Given the description of an element on the screen output the (x, y) to click on. 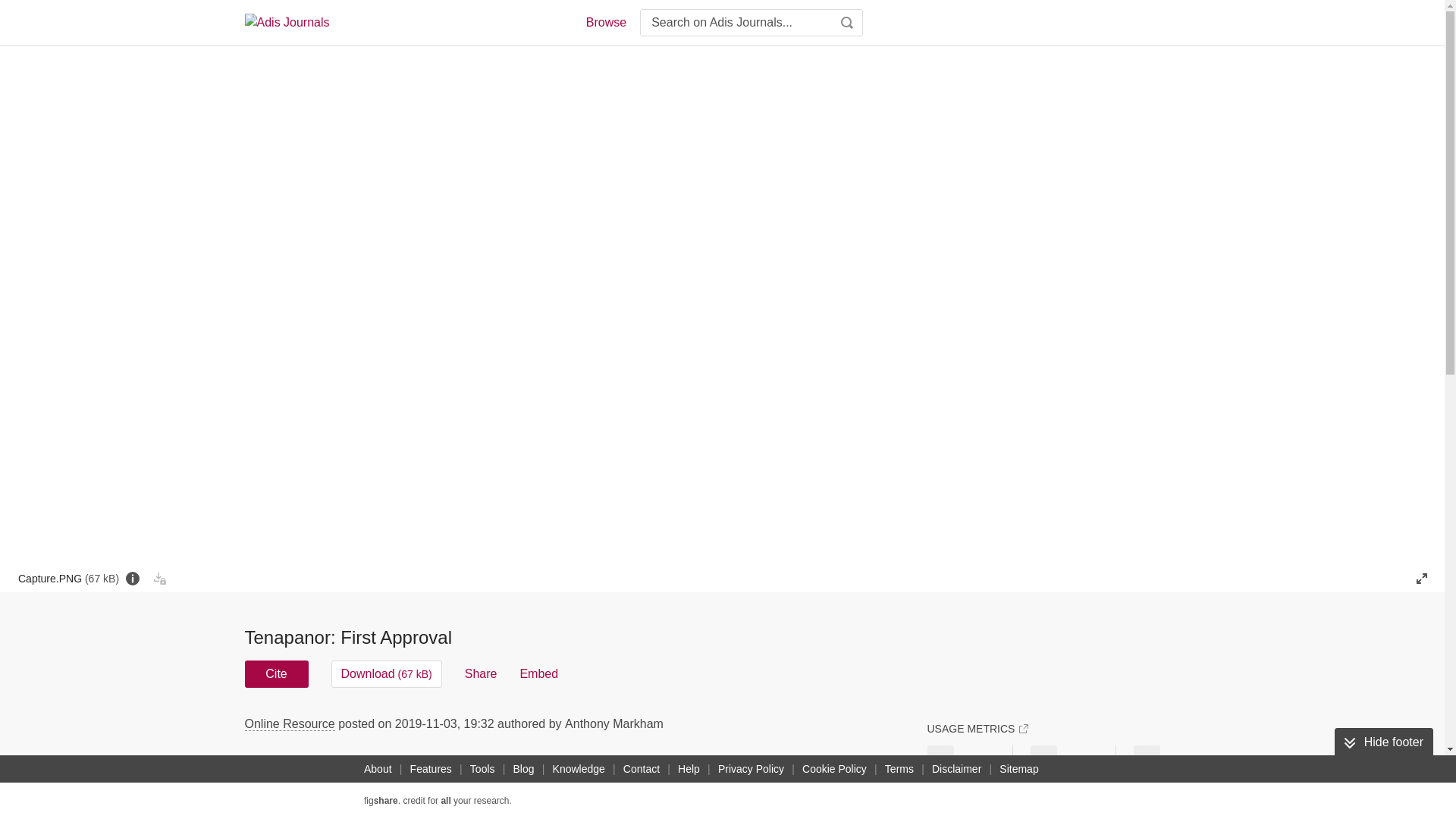
About (377, 769)
USAGE METRICS (976, 728)
Features (431, 769)
Share (480, 673)
Hide footer (1383, 742)
Knowledge (579, 769)
Capture.PNG (68, 578)
Tools (482, 769)
Cite (275, 673)
Embed (538, 673)
Blog (523, 769)
Browse (605, 22)
